Given the description of an element on the screen output the (x, y) to click on. 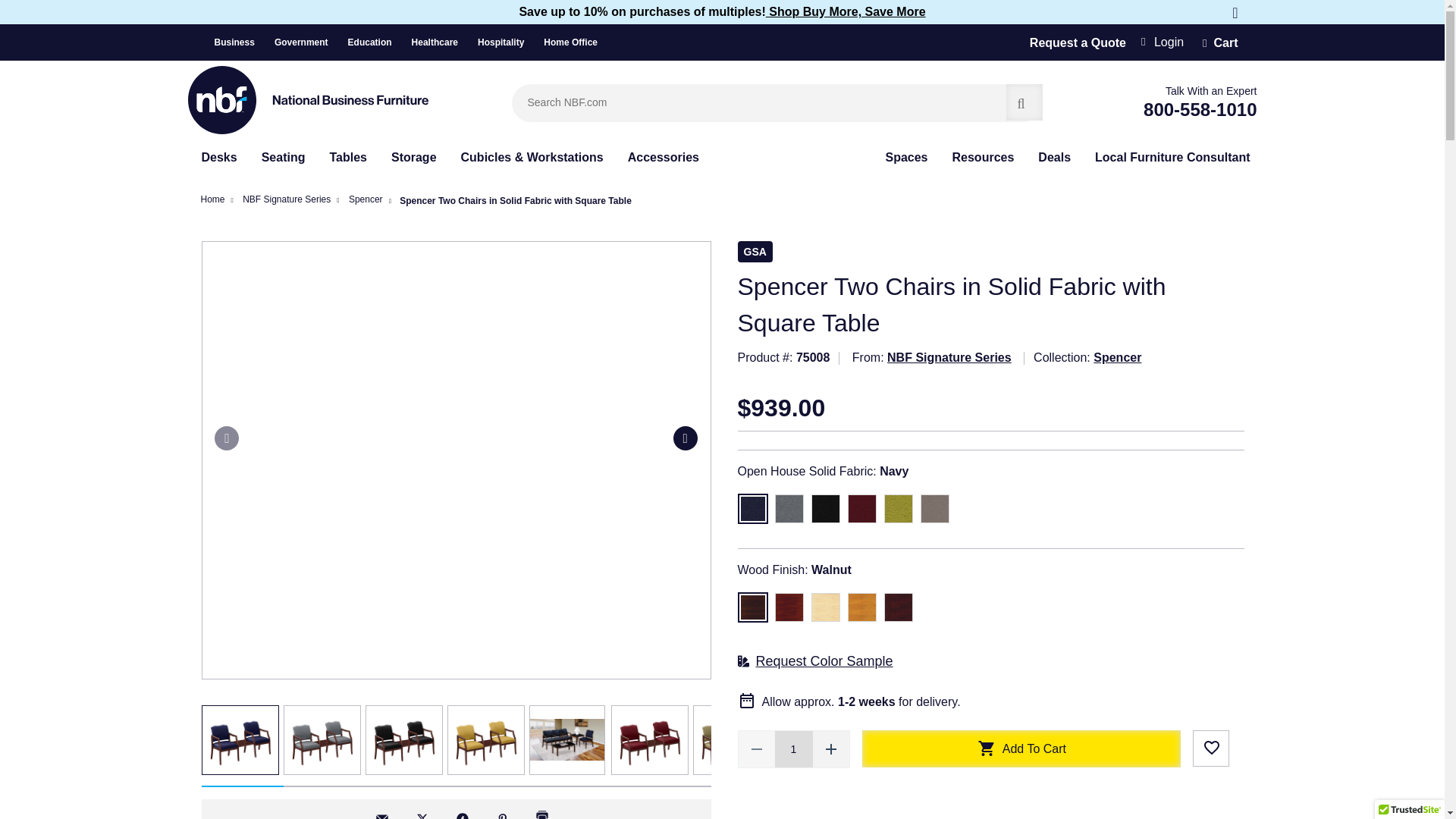
Hospitality (508, 42)
Spencer Two Chairs in Solid Fabric with Square Table (649, 739)
Healthcare (443, 42)
Spencer Two Chairs in Solid Fabric with Square Table (403, 739)
Home Office (569, 42)
Government (309, 42)
  Cart (1219, 42)
Education (377, 42)
Request a Quote (1077, 42)
Spencer Two Chairs in Solid Fabric with Square Table (731, 739)
Spencer Two Chairs in Solid Fabric with Square Table (322, 739)
Spencer Two Chairs in Solid Fabric with Square Table (485, 739)
1 (793, 749)
Login (1162, 40)
Business (241, 42)
